Given the description of an element on the screen output the (x, y) to click on. 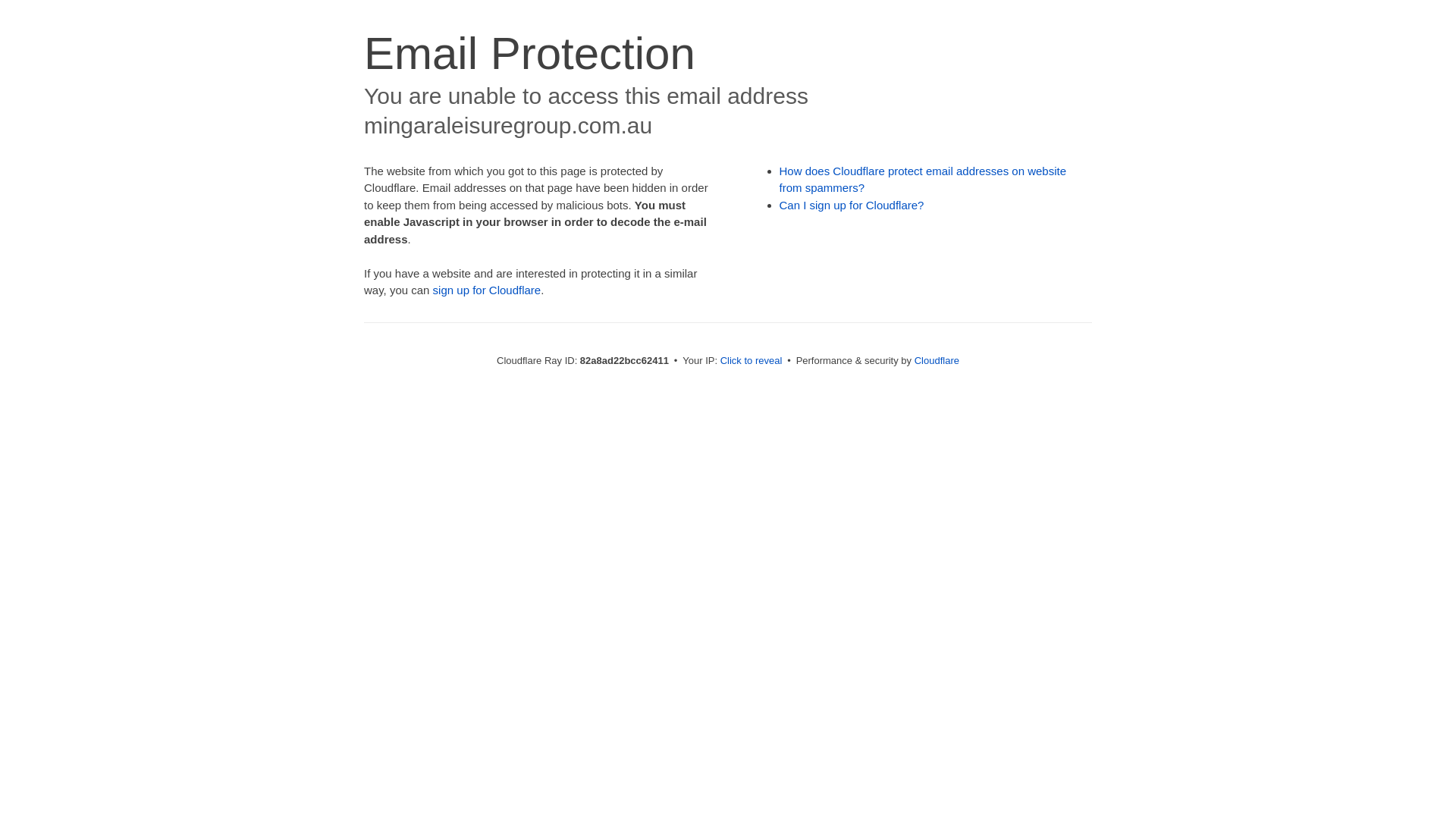
Can I sign up for Cloudflare? Element type: text (851, 204)
sign up for Cloudflare Element type: text (487, 289)
Cloudflare Element type: text (936, 360)
Click to reveal Element type: text (751, 360)
